Given the description of an element on the screen output the (x, y) to click on. 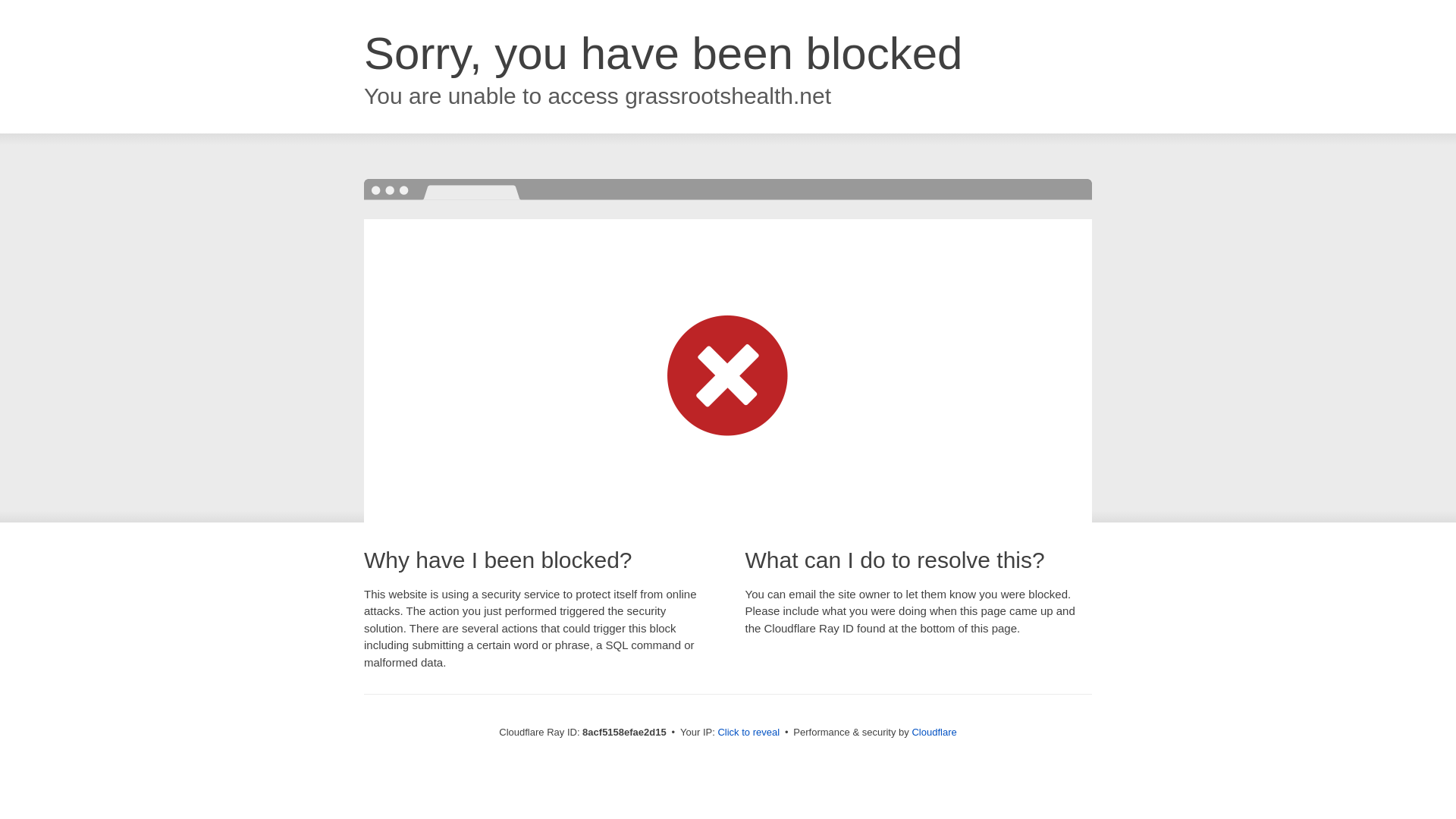
Click to reveal (747, 732)
Cloudflare (933, 731)
